Given the description of an element on the screen output the (x, y) to click on. 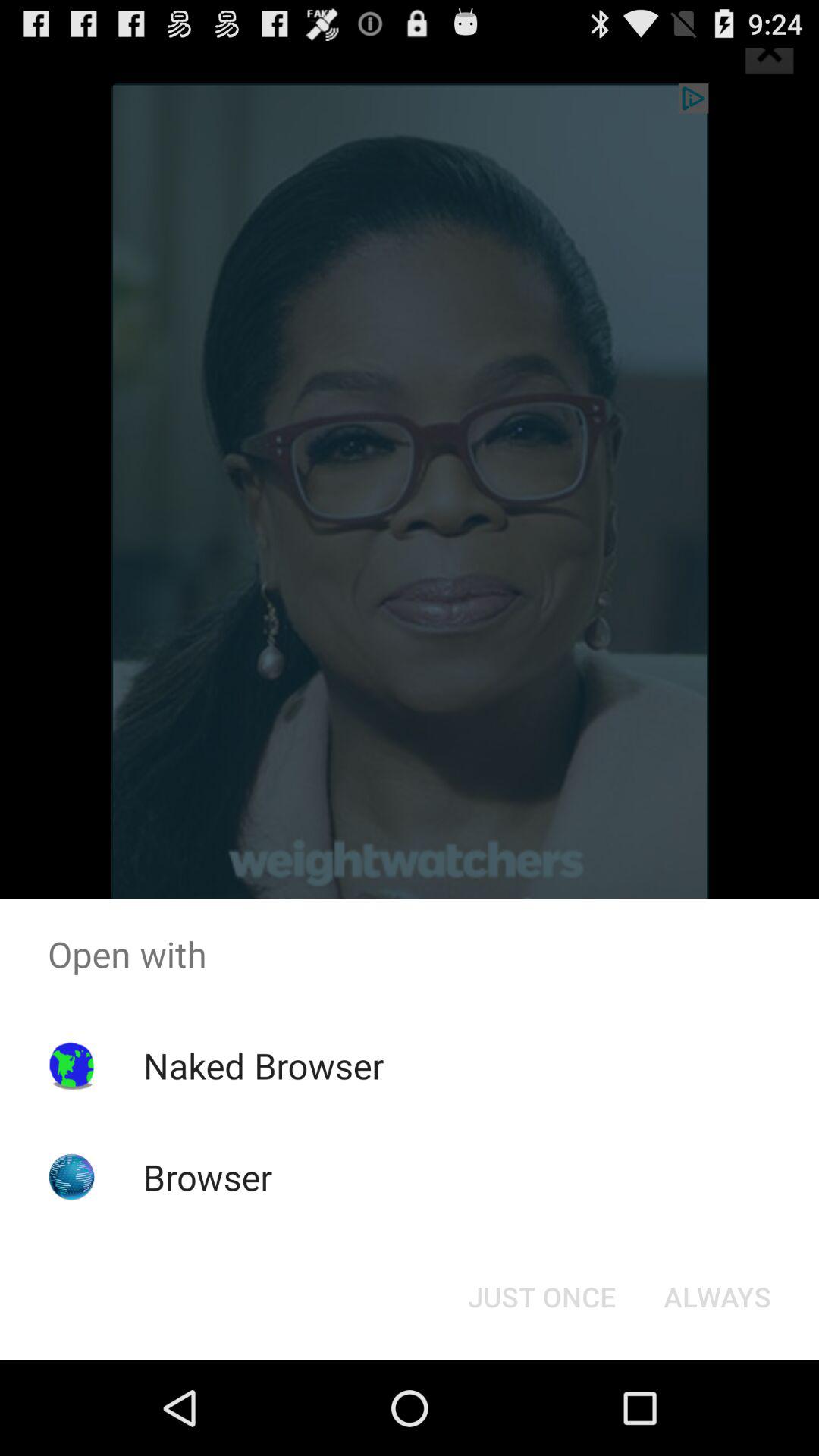
launch just once item (541, 1296)
